Given the description of an element on the screen output the (x, y) to click on. 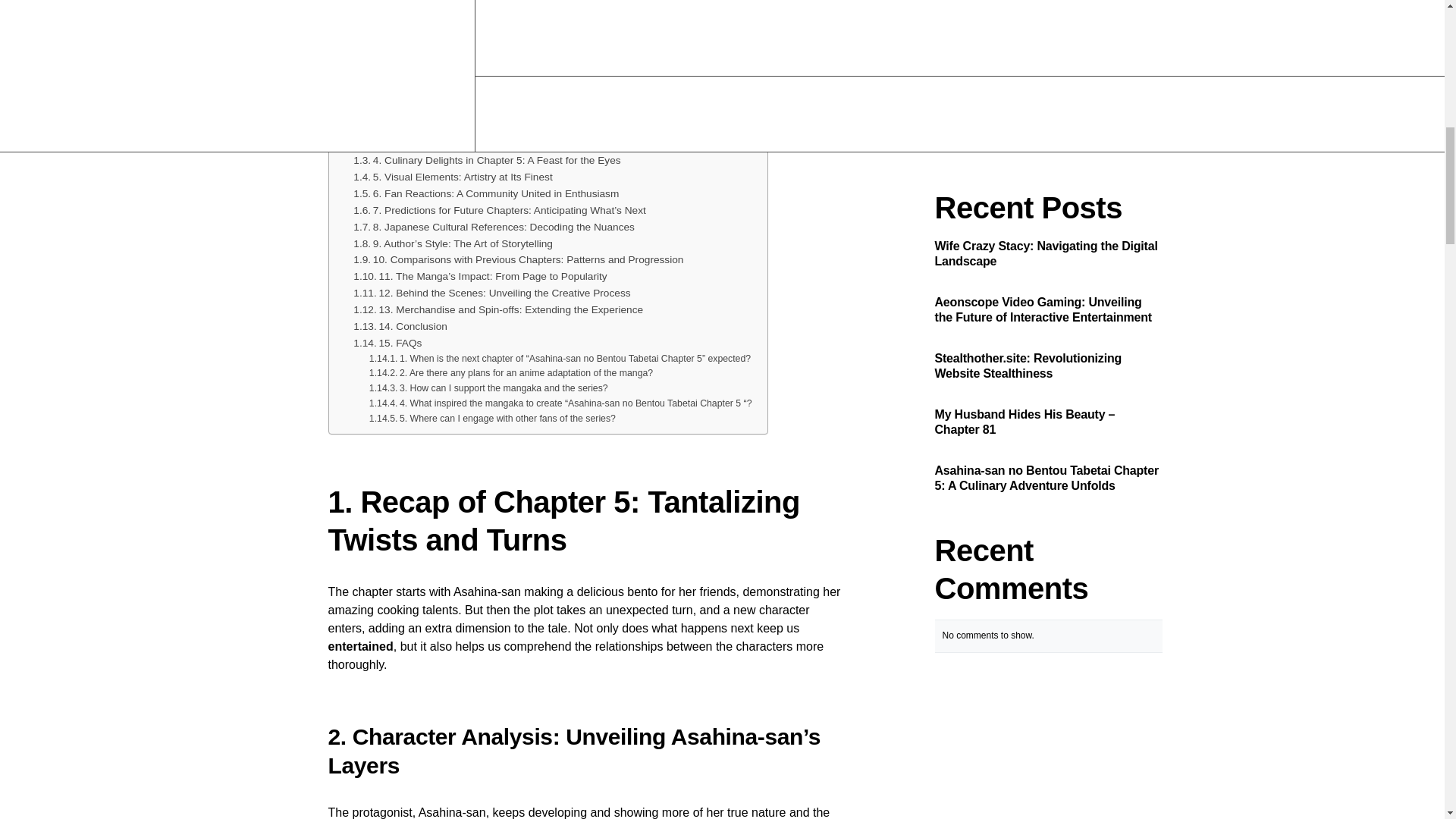
12. Behind the Scenes: Unveiling the Creative Process (491, 293)
5. Visual Elements: Artistry at Its Finest (452, 176)
3. Bentou Culture in Japan: More Than Just a Meal (480, 143)
1. Recap of Chapter 5: Tantalizing Twists and Turns (473, 109)
8. Japanese Cultural References: Decoding the Nuances (493, 227)
6. Fan Reactions: A Community United in Enthusiasm (485, 193)
4. Culinary Delights in Chapter 5: A Feast for the Eyes (486, 160)
